Given the description of an element on the screen output the (x, y) to click on. 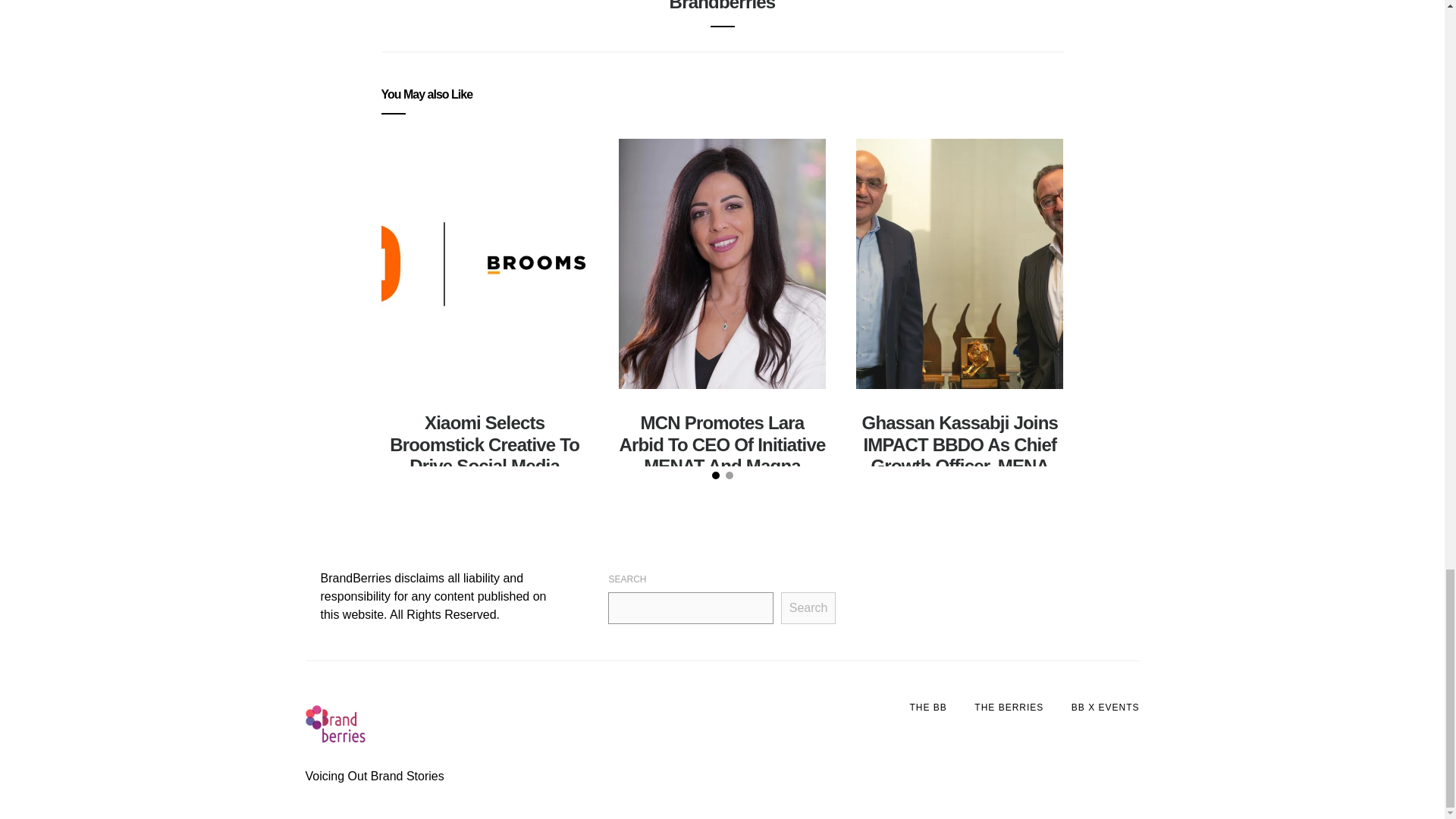
Posts by Brandberries (722, 6)
Brandberries (722, 6)
